Given the description of an element on the screen output the (x, y) to click on. 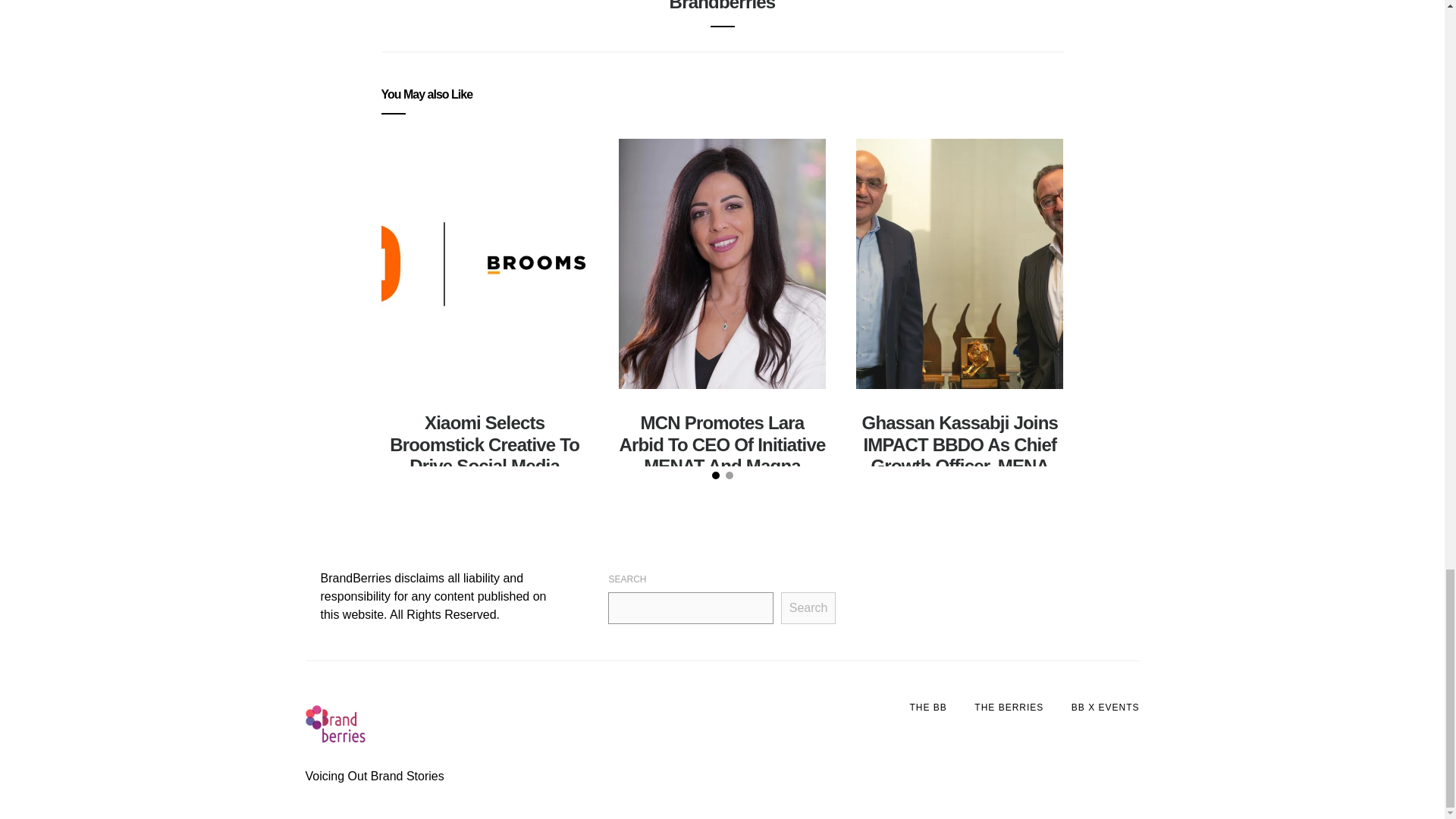
Posts by Brandberries (722, 6)
Brandberries (722, 6)
